Given the description of an element on the screen output the (x, y) to click on. 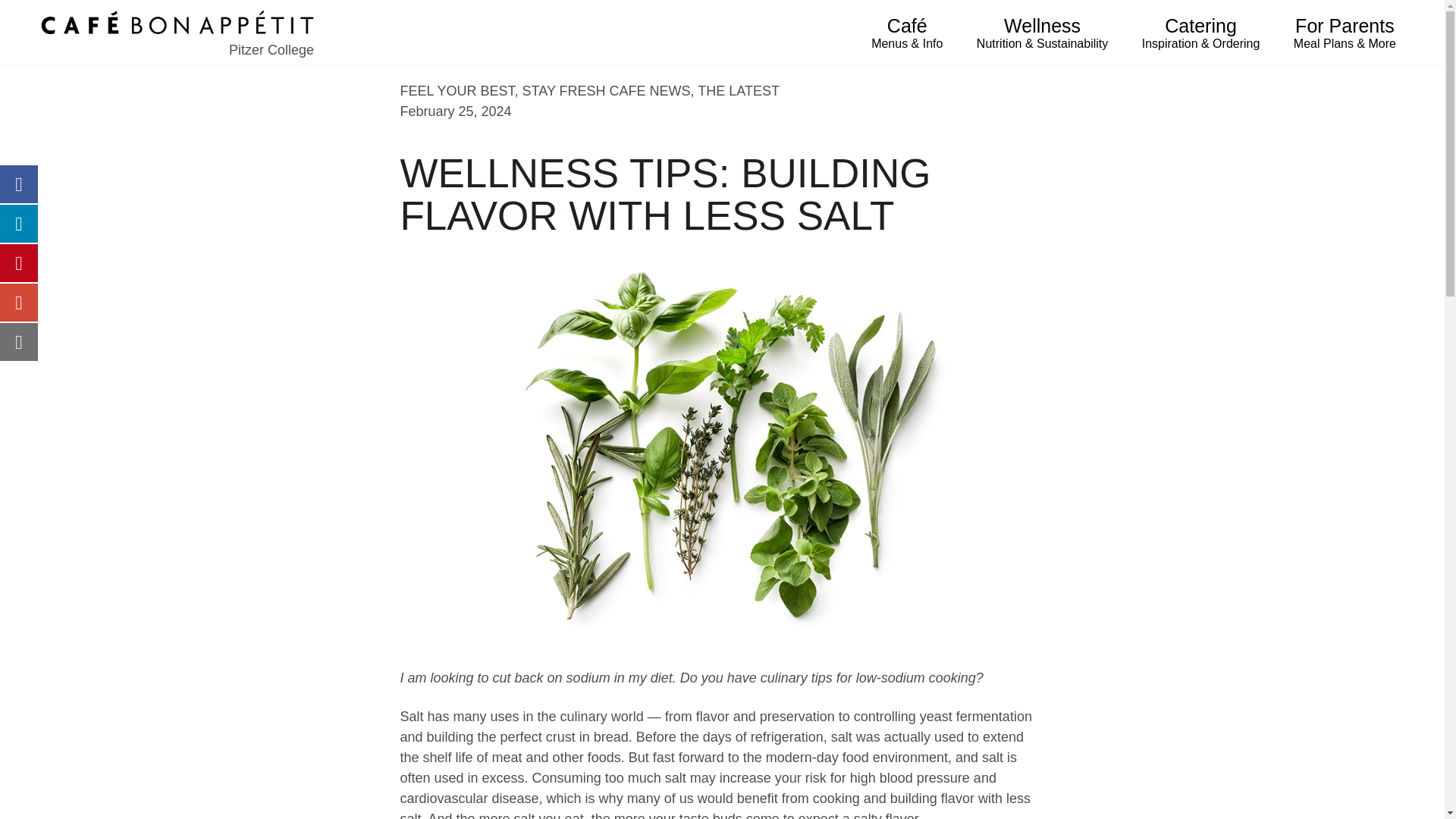
STAY FRESH CAFE NEWS (606, 90)
Share on Twitter (18, 223)
Share through Email (18, 341)
Share on Pinterest (18, 262)
Share through Email (18, 341)
THE LATEST (737, 90)
Share on Pinterest (18, 262)
FEEL YOUR BEST (457, 90)
Share on Facebook (18, 184)
Share on Twitter (18, 223)
Share on Facebook (18, 184)
Pitzer College (177, 32)
